Given the description of an element on the screen output the (x, y) to click on. 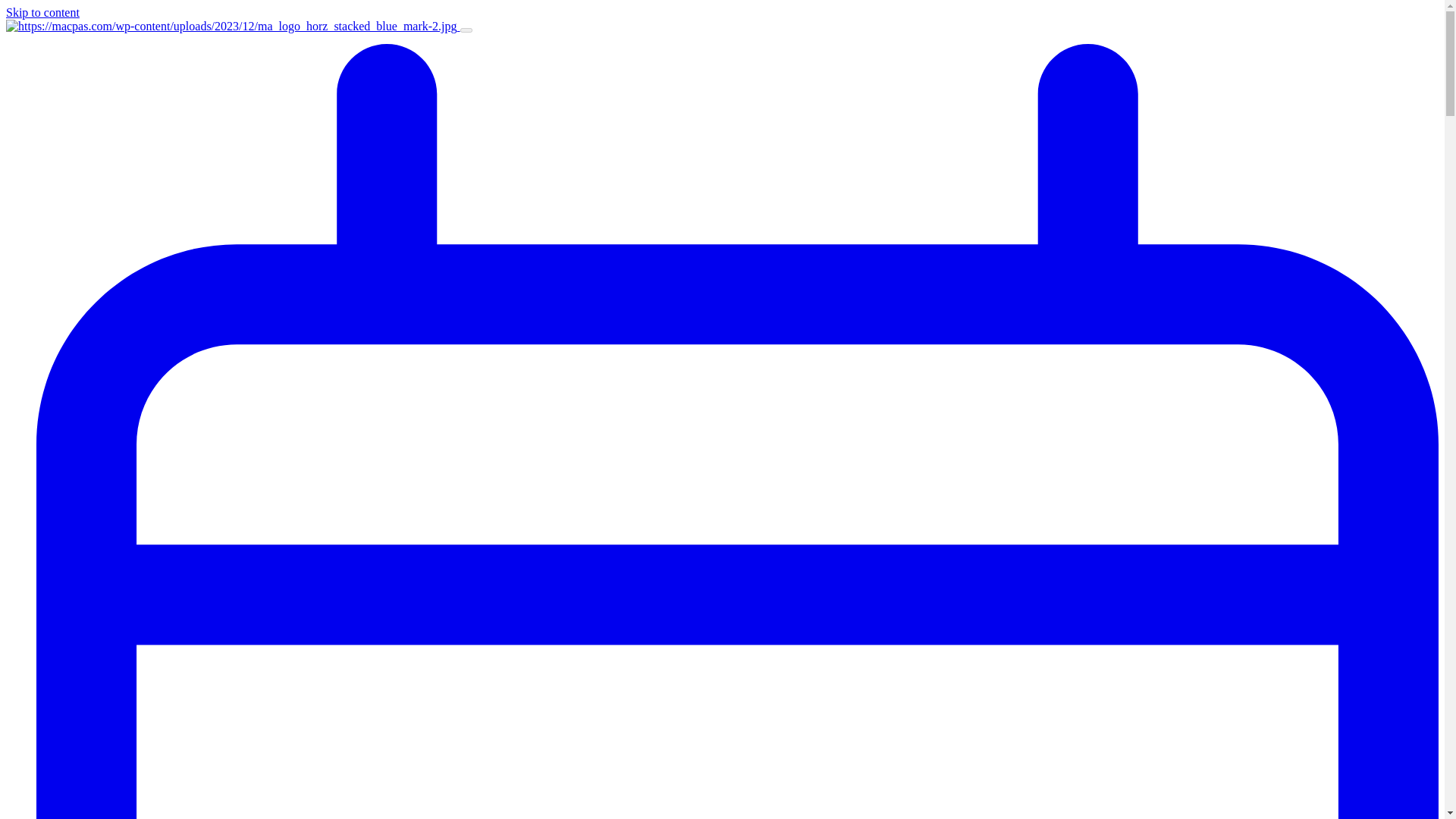
Skip to content (42, 11)
